Given the description of an element on the screen output the (x, y) to click on. 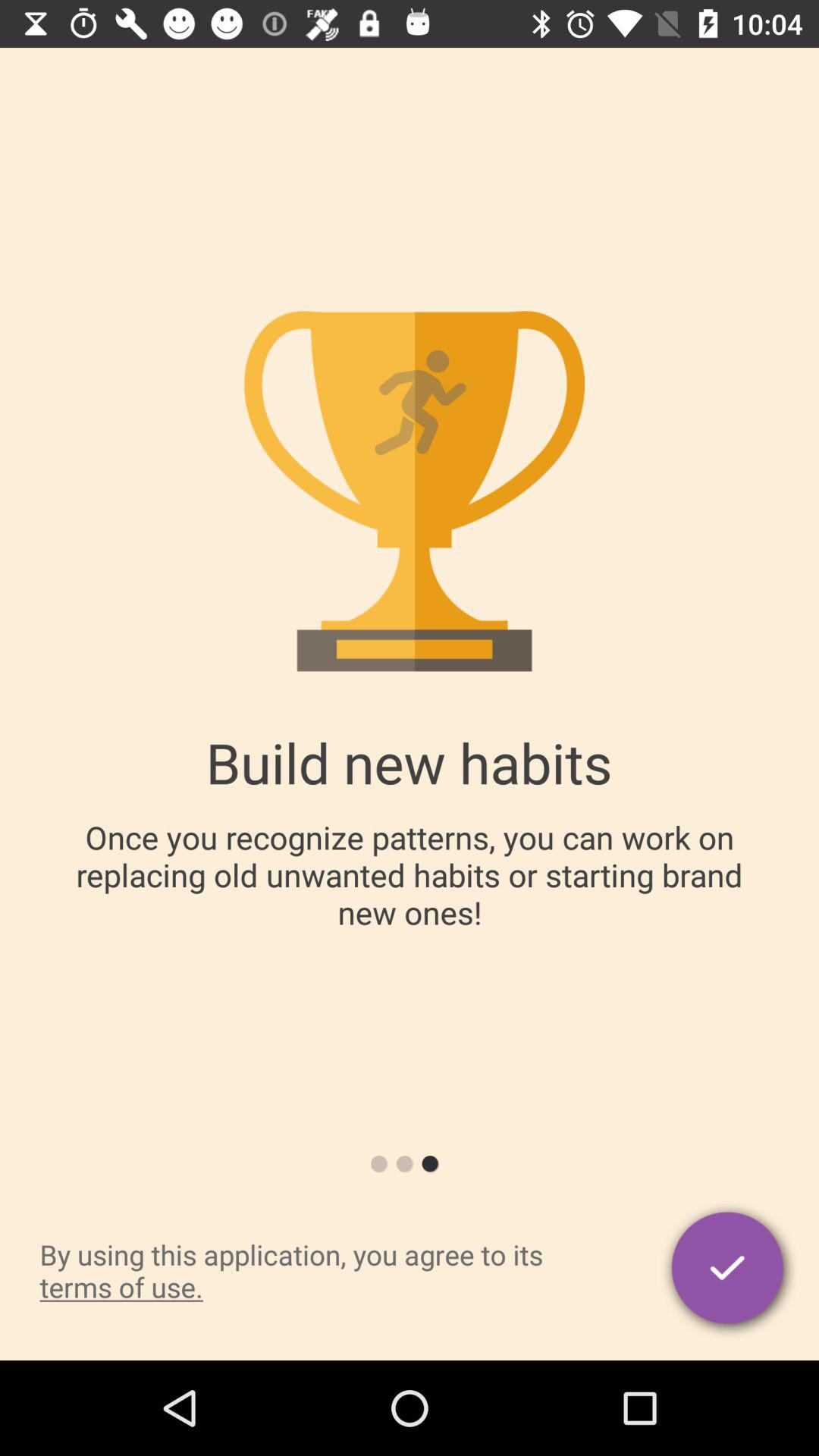
click the item to the right of by using this (729, 1270)
